Given the description of an element on the screen output the (x, y) to click on. 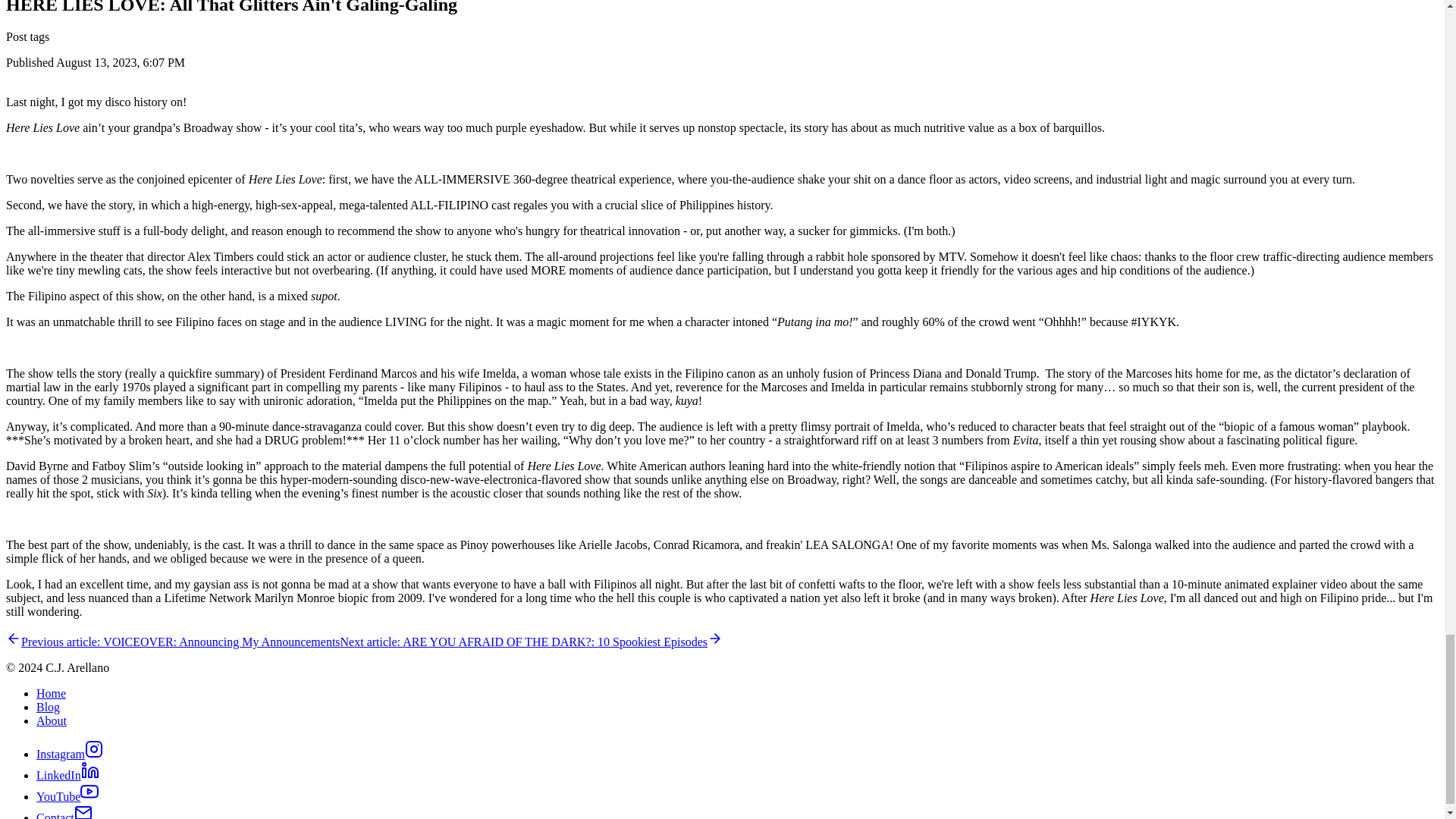
Blog (47, 707)
Instagram (69, 753)
LinkedIn (67, 775)
YouTube (67, 796)
Previous article: VOICEOVER: Announcing My Announcements (172, 641)
Home (50, 693)
About (51, 720)
